Given the description of an element on the screen output the (x, y) to click on. 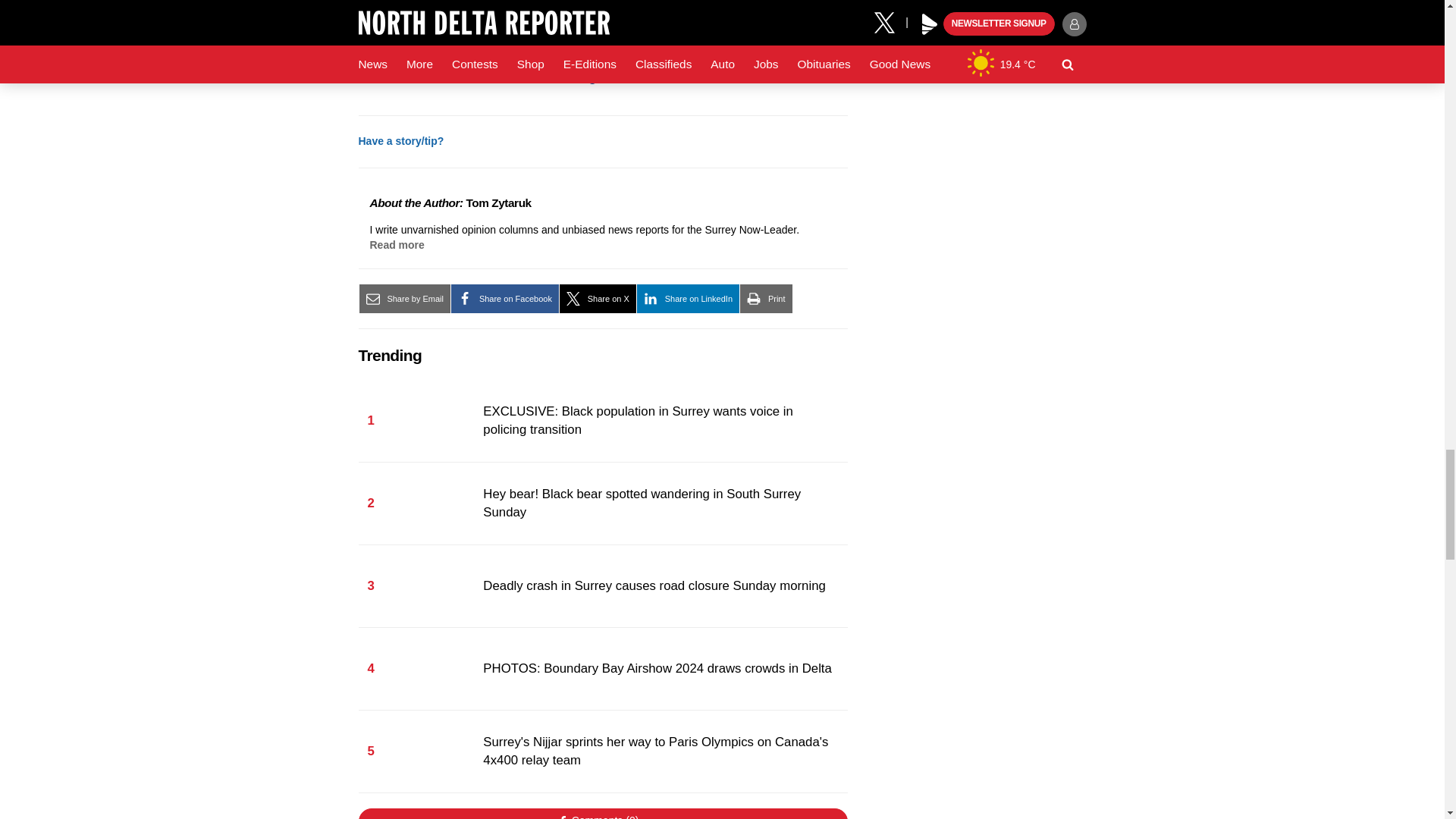
Show Comments (602, 813)
